Given the description of an element on the screen output the (x, y) to click on. 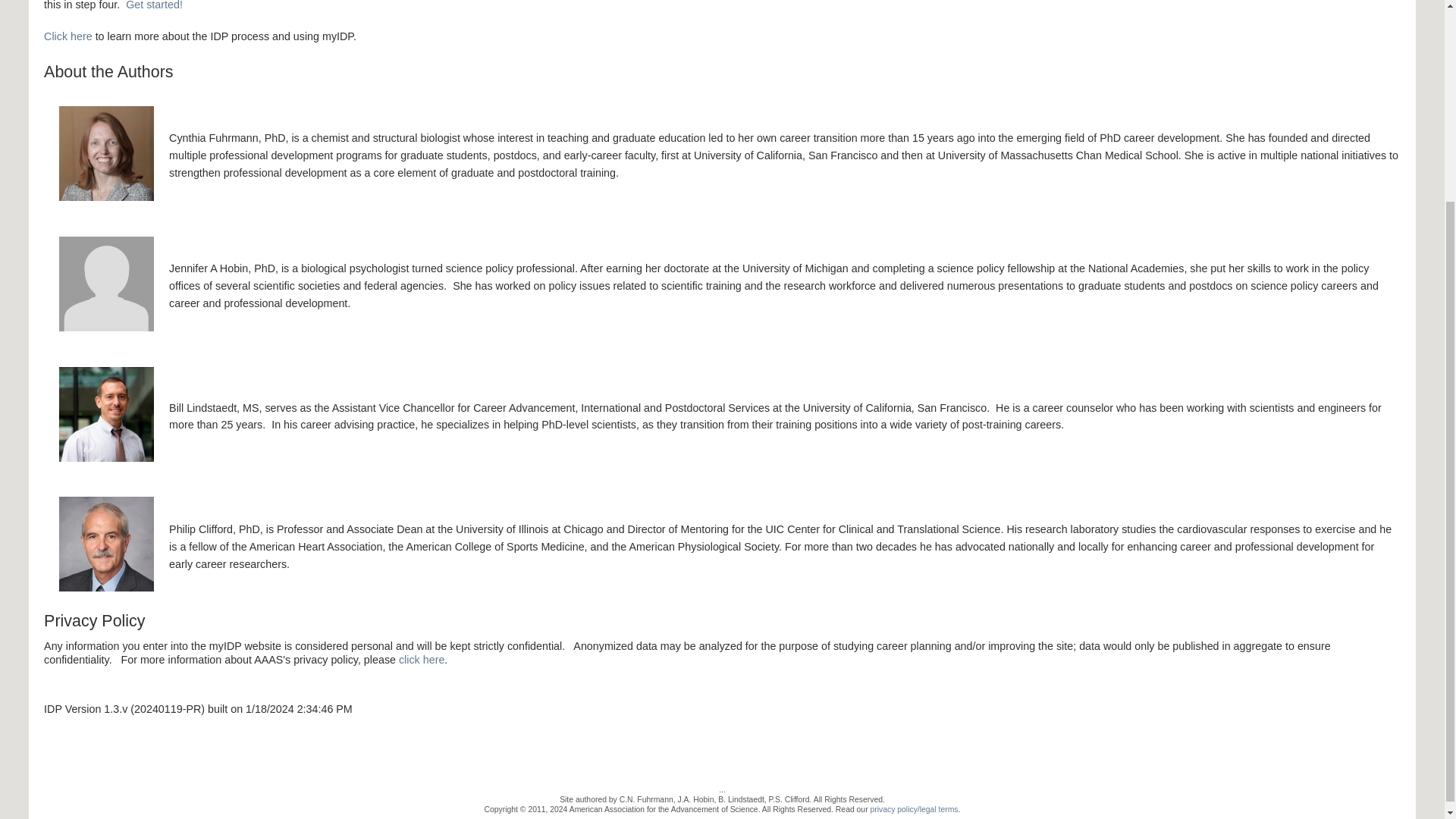
click here (421, 659)
Get started! (154, 5)
Click here (68, 36)
